Given the description of an element on the screen output the (x, y) to click on. 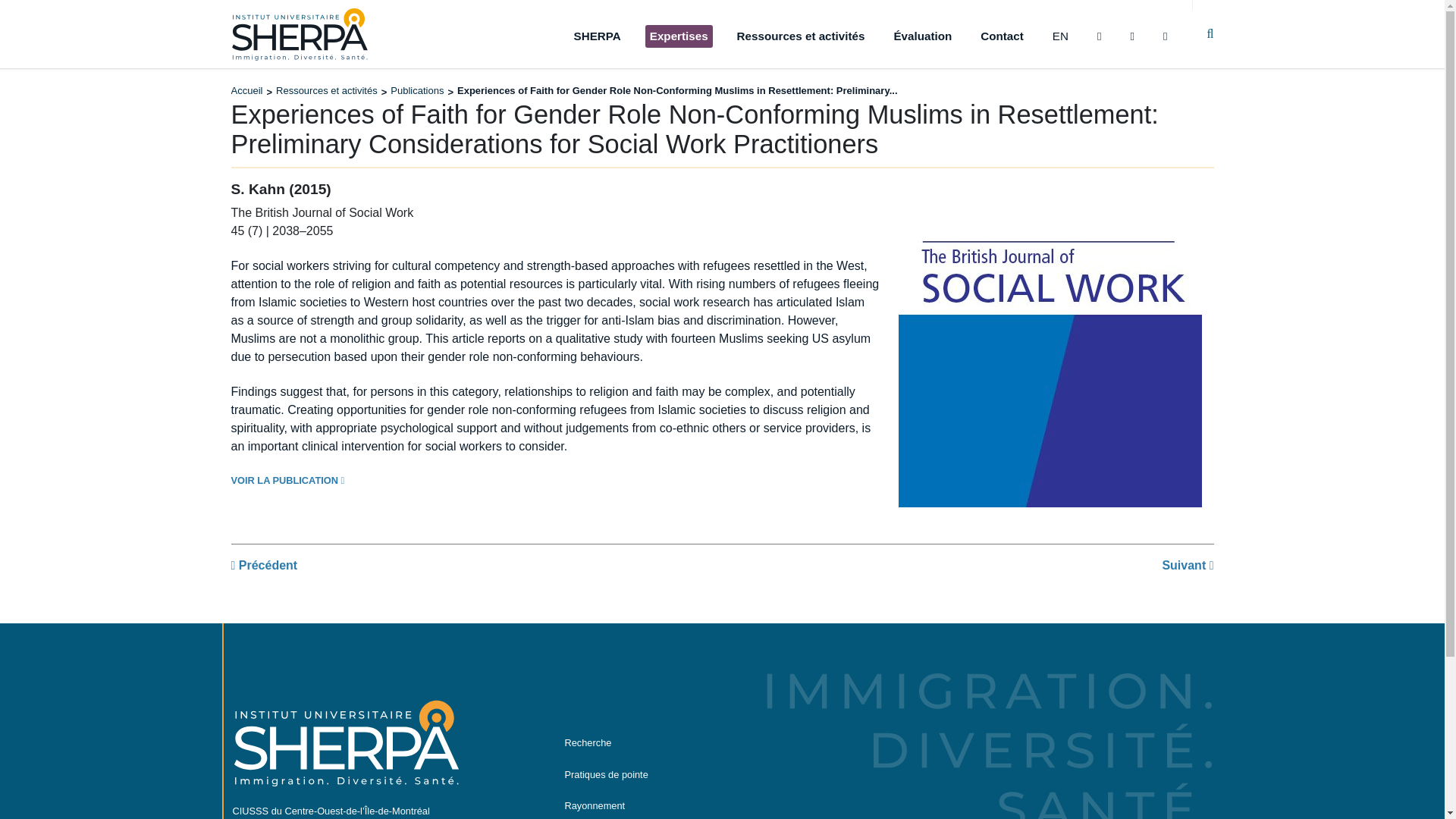
SHERPA (597, 36)
Expertises (679, 36)
Publications (417, 90)
Accueil (246, 90)
